Given the description of an element on the screen output the (x, y) to click on. 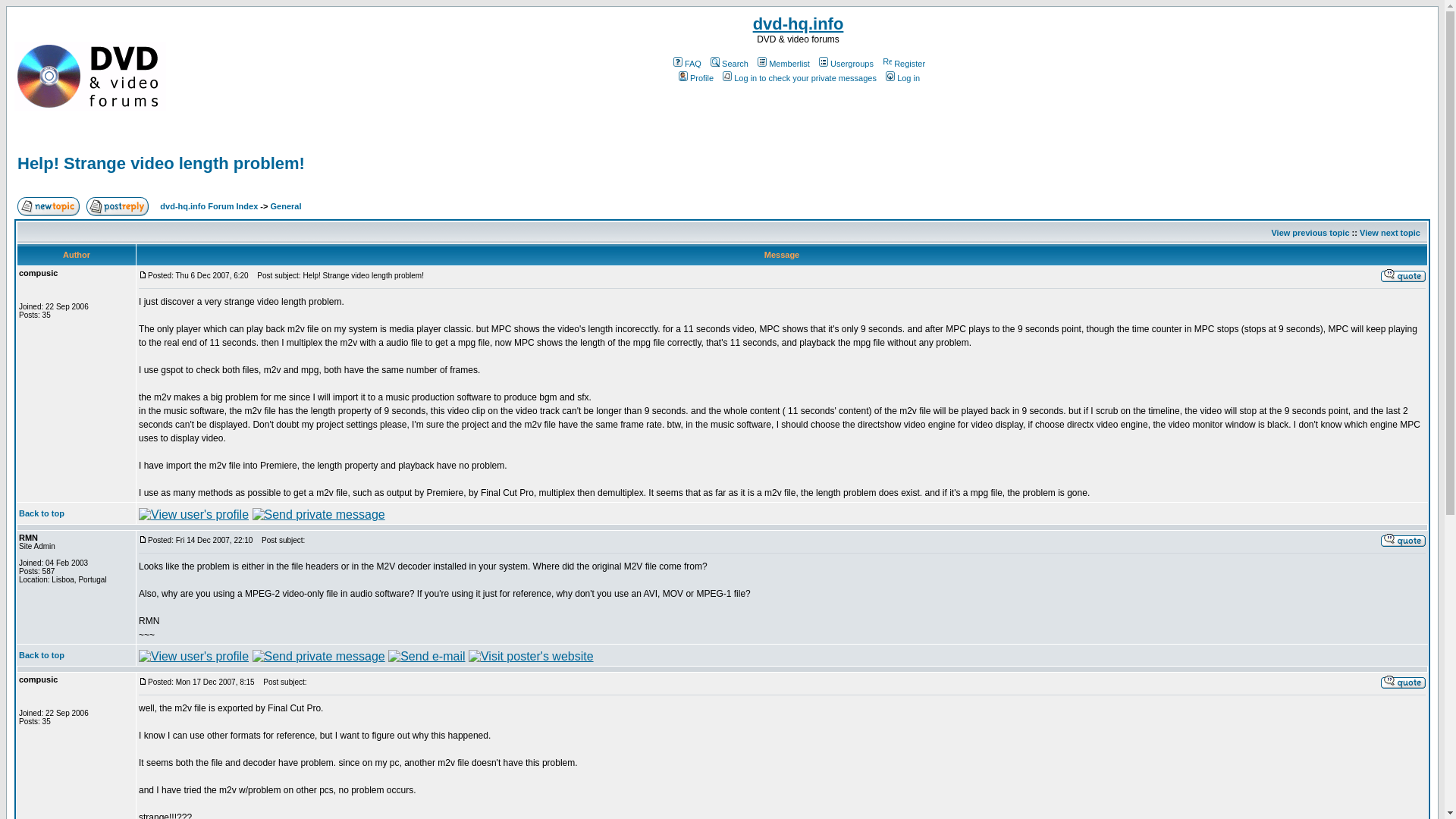
View previous topic (1310, 232)
Log in (901, 77)
Reply with quote (1402, 274)
Register (902, 62)
Log in to check your private messages (798, 77)
General (285, 205)
Memberlist (782, 62)
dvd-hq.info Forum Index (208, 205)
Search (727, 62)
dvd-hq.info (798, 23)
Post (143, 274)
Help! Strange video length problem! (160, 162)
Profile (695, 77)
Back to top (41, 512)
View next topic (1390, 232)
